Given the description of an element on the screen output the (x, y) to click on. 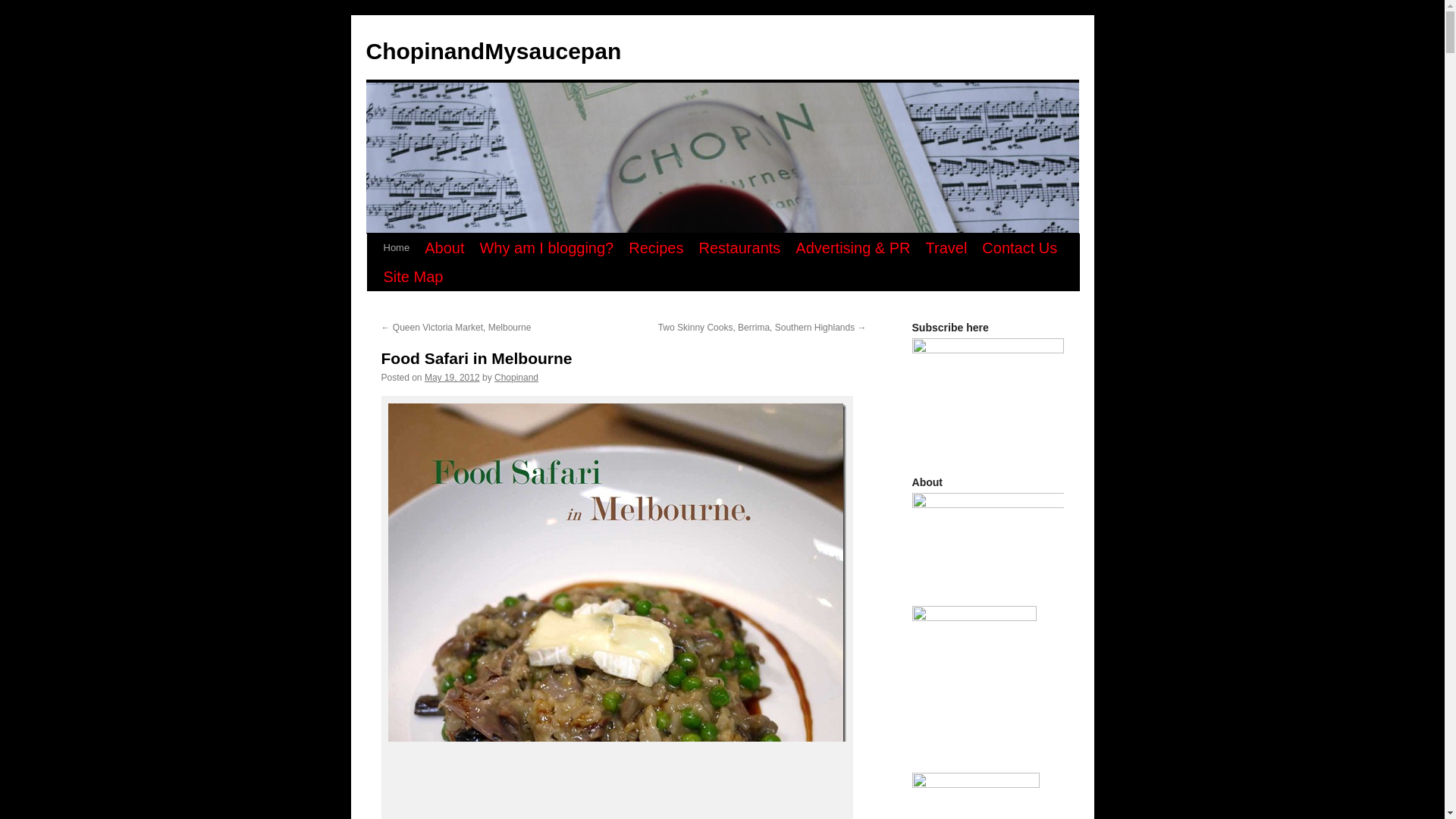
Chopinand (516, 377)
Site Map (413, 276)
Recipes (655, 247)
ChopinandMysaucepan (493, 50)
Home (396, 247)
12:00 am (452, 377)
May 19, 2012 (452, 377)
Why am I blogging? (546, 247)
Restaurants (738, 247)
ChopinandMysaucepan (493, 50)
